Given the description of an element on the screen output the (x, y) to click on. 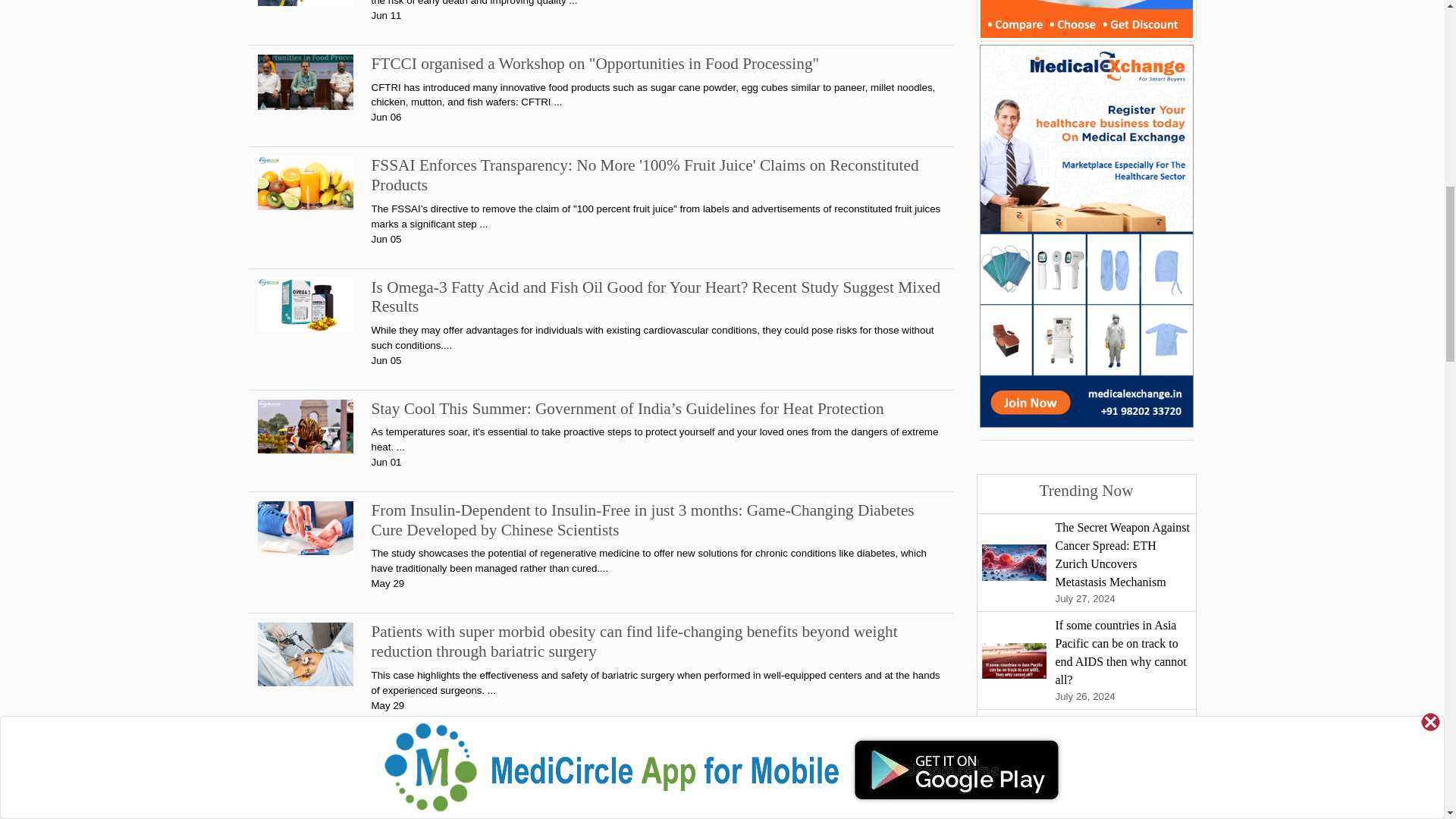
Hospital Suggest (1086, 20)
